Given the description of an element on the screen output the (x, y) to click on. 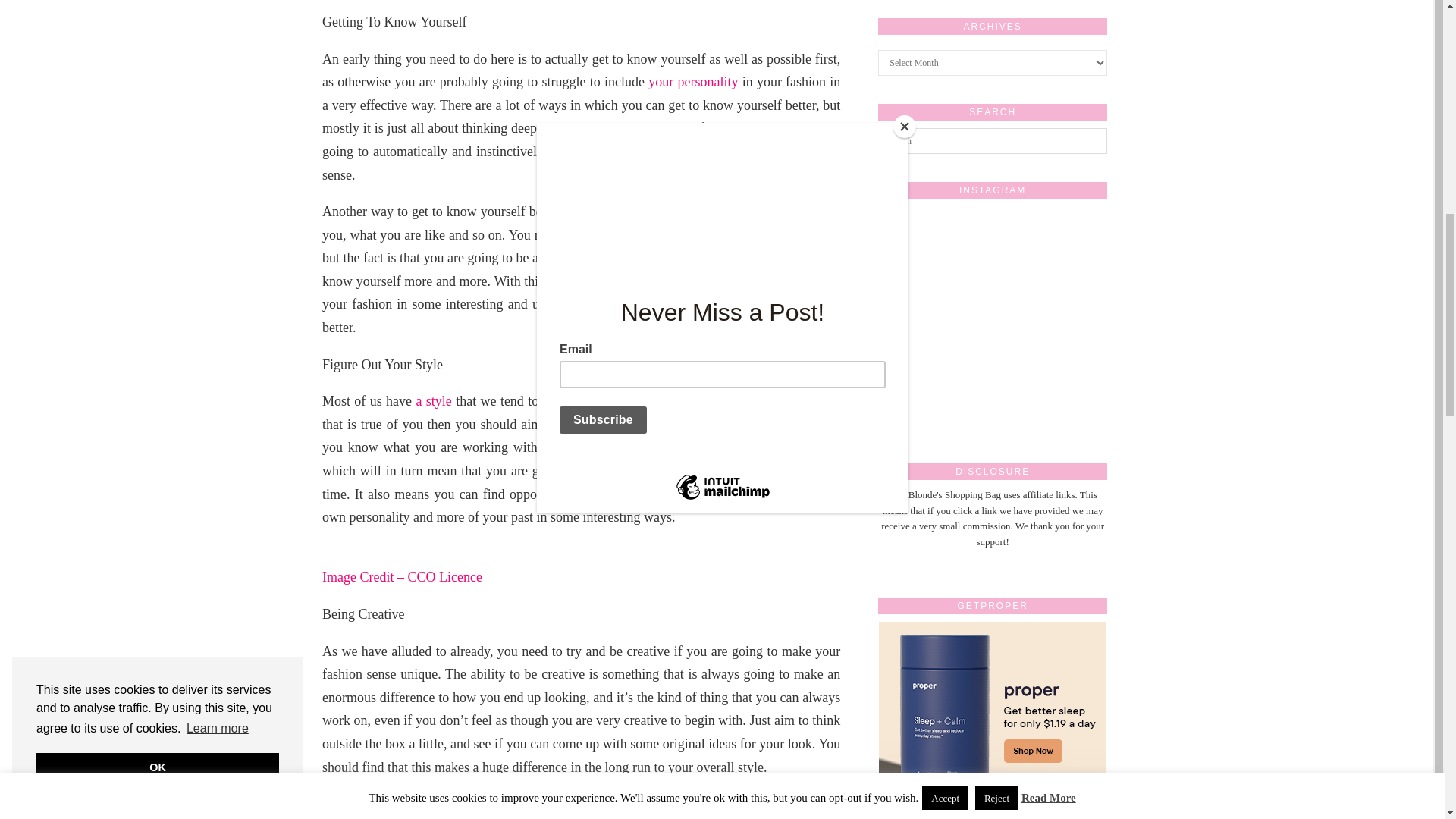
your personality (692, 81)
a style (432, 400)
Search for: (991, 140)
